Given the description of an element on the screen output the (x, y) to click on. 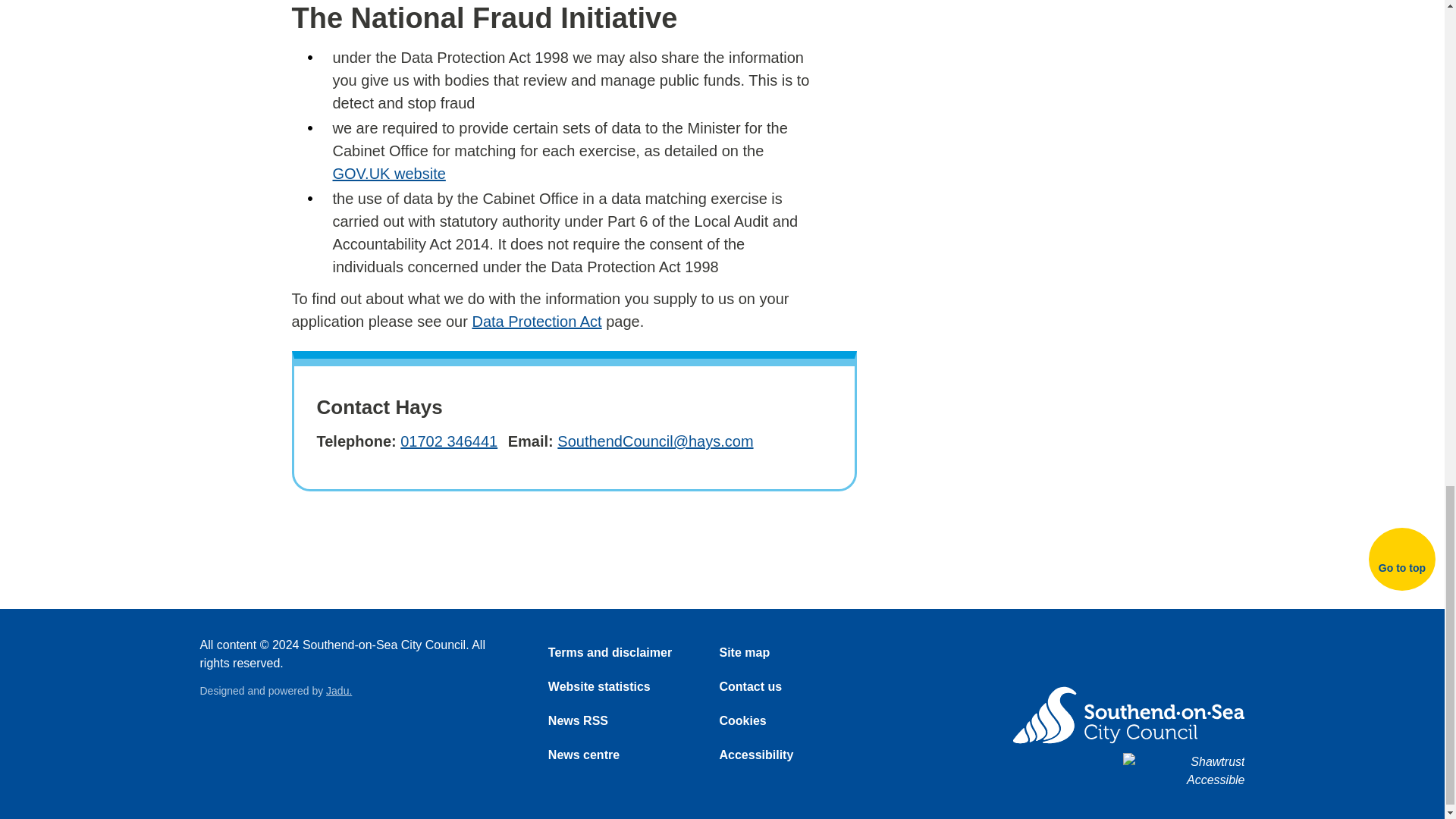
Flickr (1102, 658)
Back to Top (1401, 558)
Twitter (1185, 658)
GOV.UK website (388, 173)
GOV.UK website. (388, 173)
Youtube (1226, 658)
Visit Jadu website (339, 690)
Data Protection Act (536, 321)
Facebook (1061, 658)
Instagram (1143, 658)
